Given the description of an element on the screen output the (x, y) to click on. 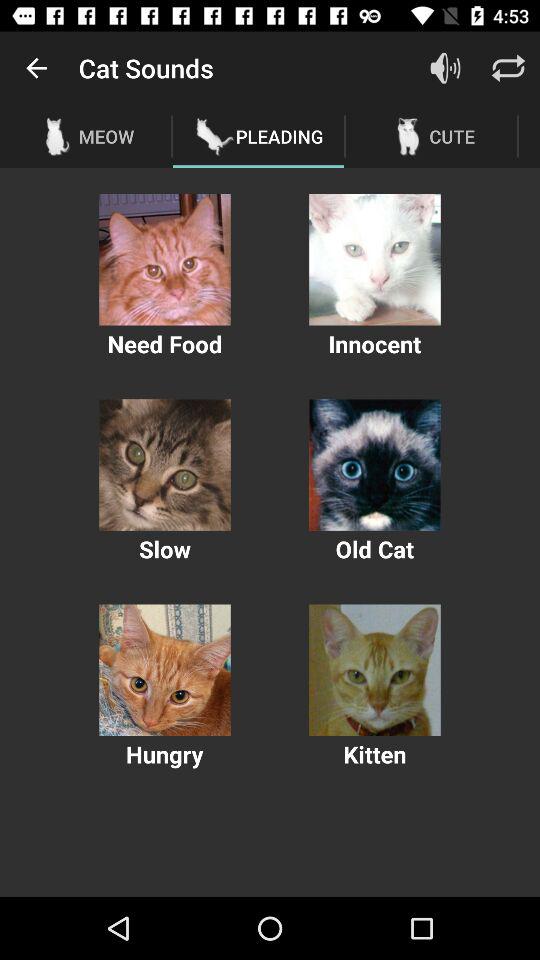
play the need food sound (164, 259)
